Given the description of an element on the screen output the (x, y) to click on. 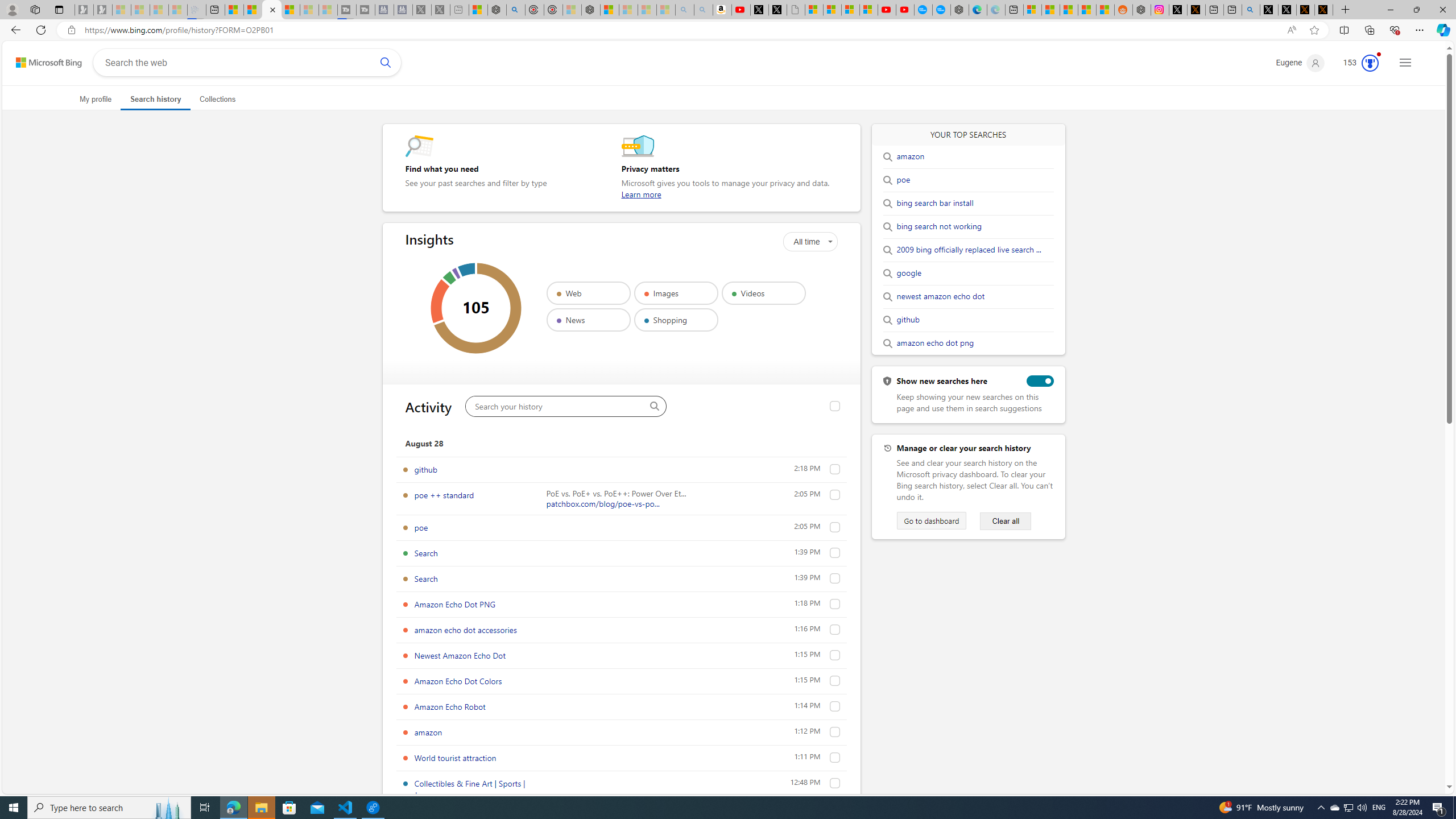
Amazon Echo Dot Colors (457, 680)
amazon echo dot accessories (834, 629)
google (908, 273)
Amazon Echo Dot PNG - Search Images - Sleeping (702, 9)
amazon - Search - Sleeping (684, 9)
Class: el_arc partner-videos (449, 277)
Class: el_arc partner-shopping (465, 269)
Amazon Echo Dot PNG (454, 603)
